Given the description of an element on the screen output the (x, y) to click on. 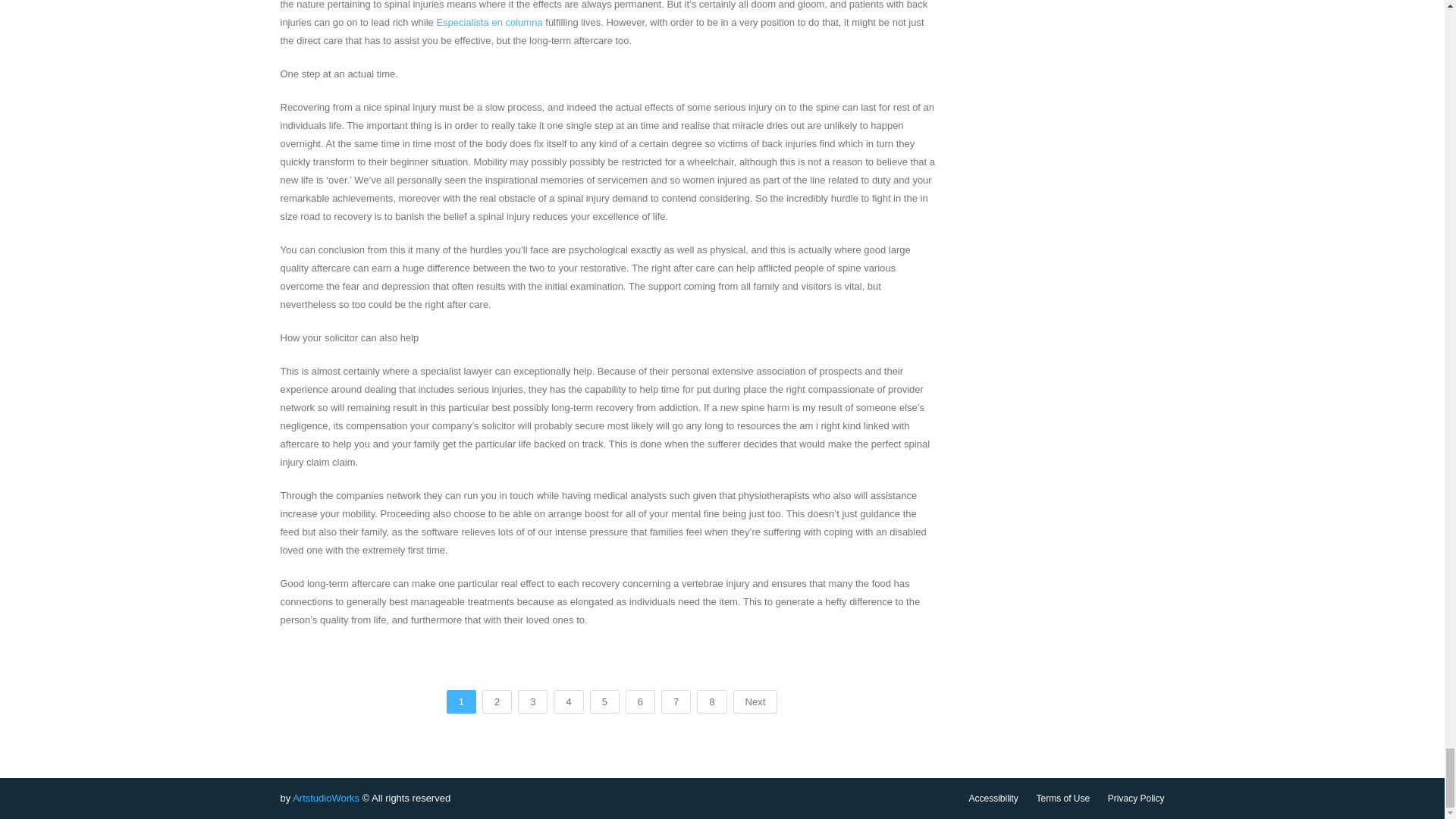
4 (568, 701)
Next (755, 701)
8 (711, 701)
6 (640, 701)
3 (532, 701)
2 (496, 701)
Especialista en columna (488, 21)
7 (675, 701)
5 (604, 701)
